Given the description of an element on the screen output the (x, y) to click on. 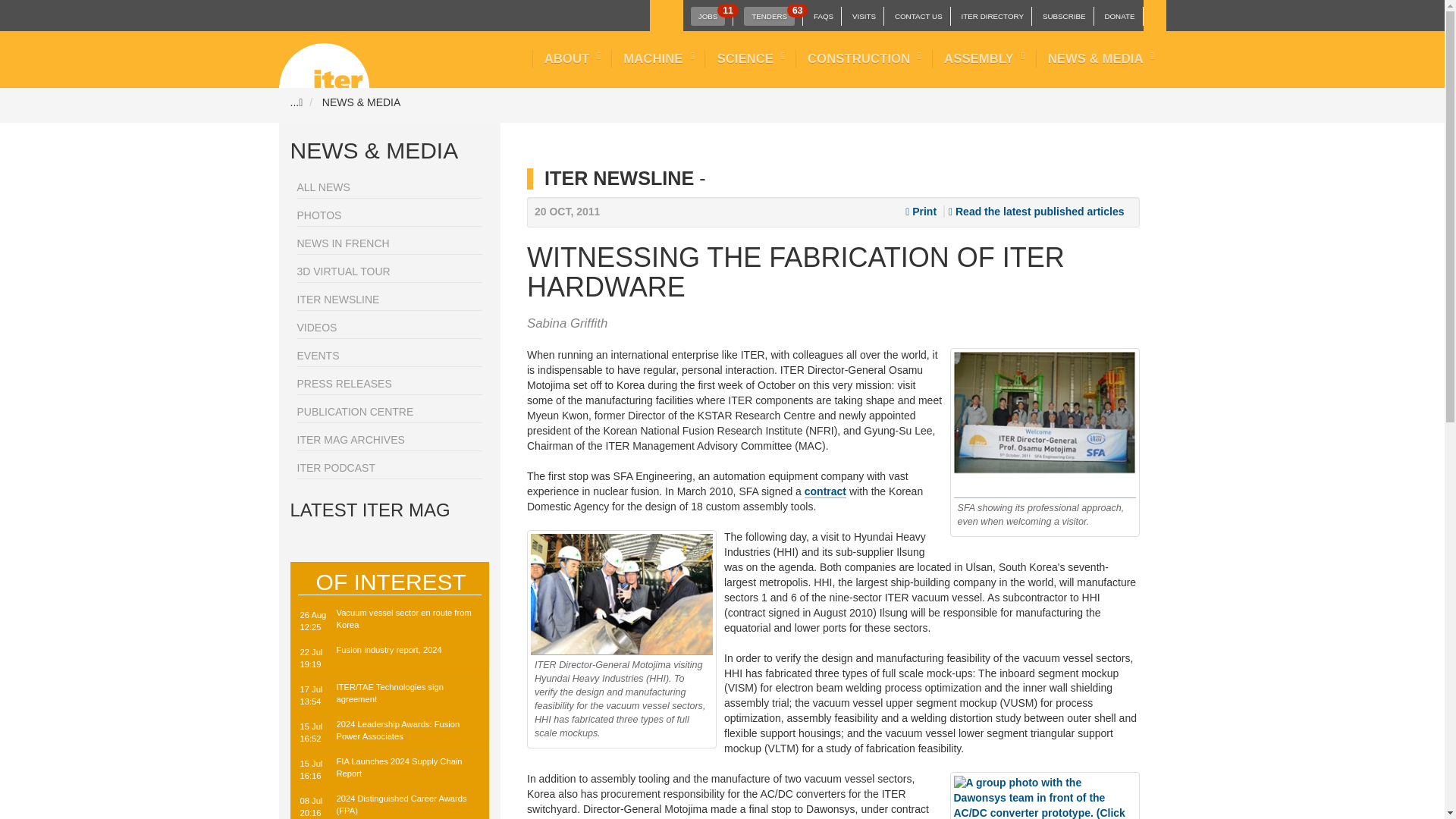
FAQS (822, 16)
CONTACT US (918, 16)
DONATE (707, 15)
ITER Organization - Homepage (1118, 16)
VISITS (324, 59)
ITER DIRECTORY (863, 16)
SUBSCRIBE (991, 16)
